Given the description of an element on the screen output the (x, y) to click on. 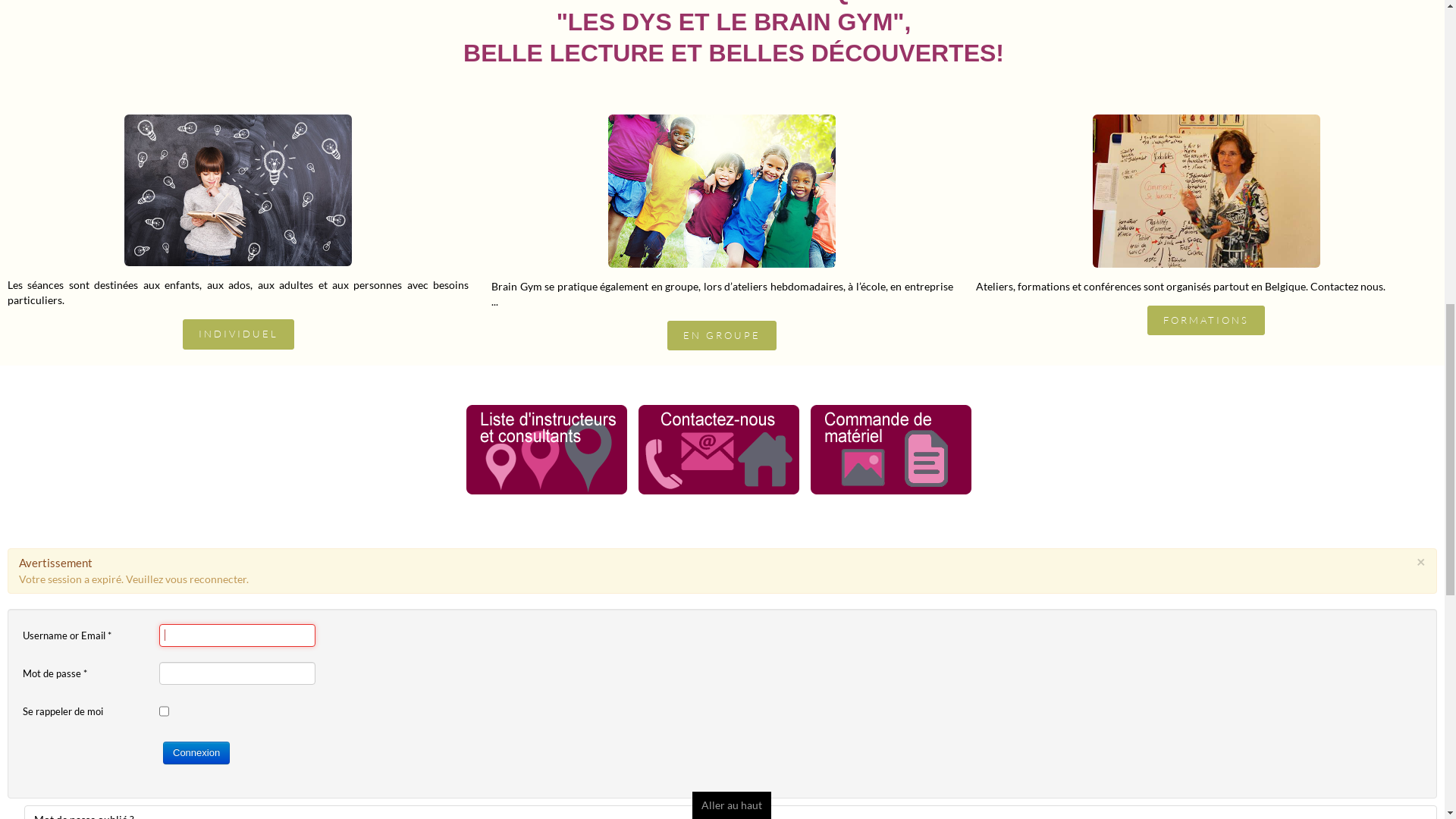
AGENDA Element type: text (727, 694)
ARTICLE Element type: text (760, 783)
Nederlands Element type: hover (1243, 11)
